Given the description of an element on the screen output the (x, y) to click on. 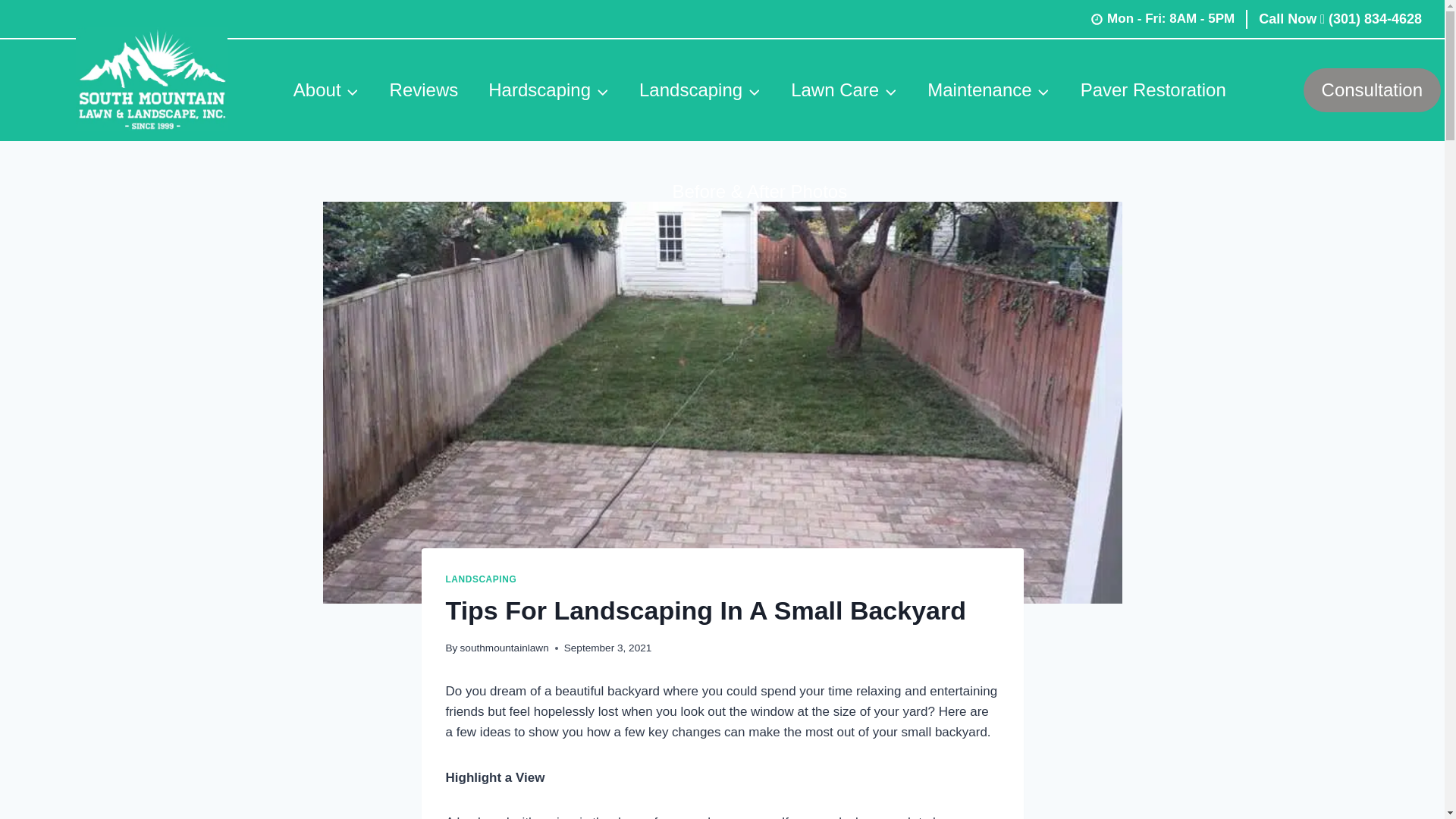
LANDSCAPING (480, 579)
Hardscaping (548, 89)
southmountainlawn (504, 647)
Consultation (1372, 89)
Reviews (424, 89)
Maintenance (988, 89)
About (326, 89)
Landscaping (700, 89)
Paver Restoration (1153, 89)
Lawn Care (844, 89)
